Given the description of an element on the screen output the (x, y) to click on. 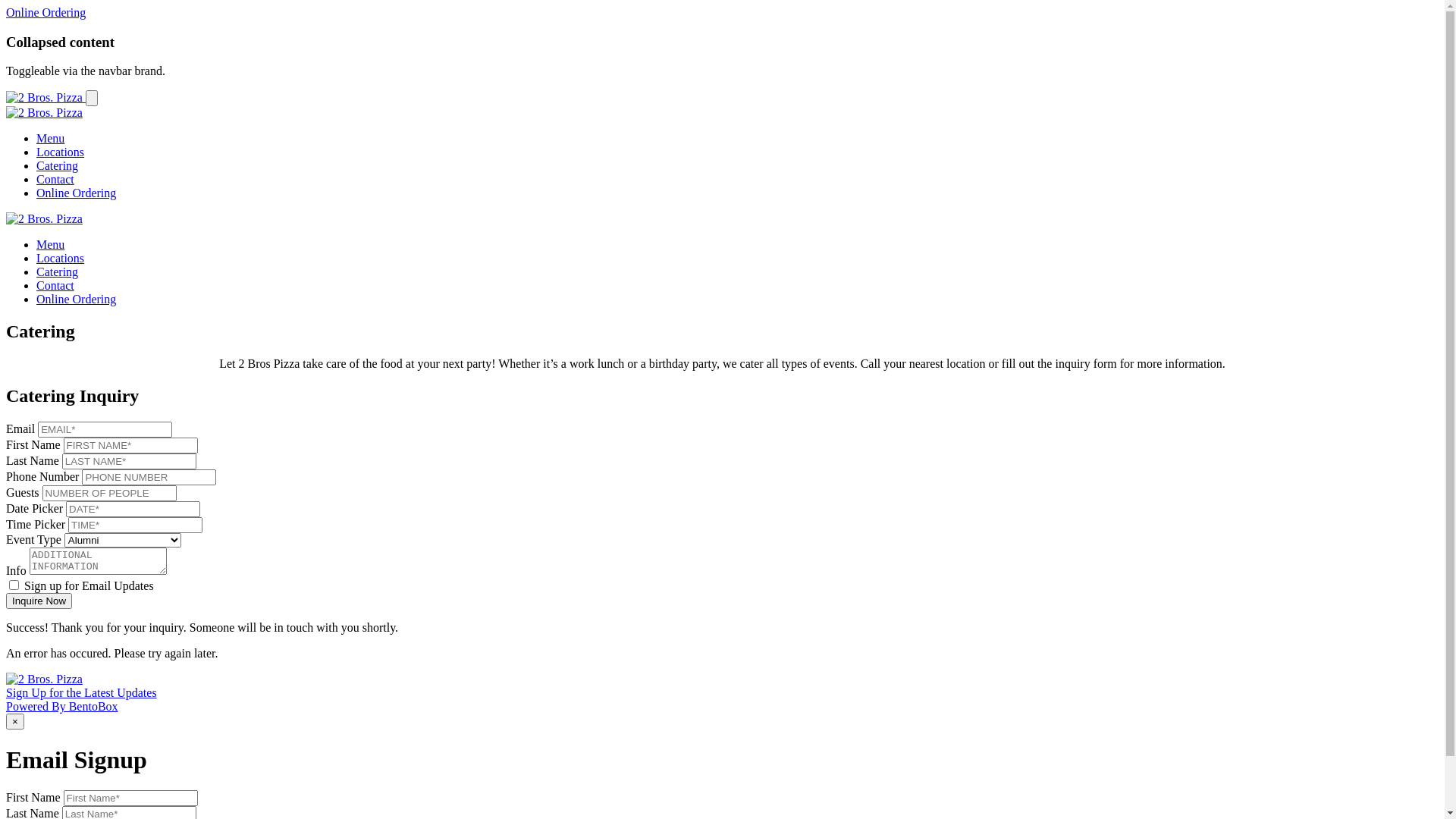
Contact Element type: text (55, 178)
Online Ordering Element type: text (76, 192)
Locations Element type: text (60, 151)
Catering Element type: text (57, 165)
Inquire Now Element type: text (39, 600)
Sign Up for the Latest Updates Element type: text (81, 692)
Contact Element type: text (55, 285)
Menu Element type: text (50, 137)
Menu Element type: text (50, 244)
Navbar Toggle Element type: text (91, 98)
Locations Element type: text (60, 257)
Catering Element type: text (57, 271)
Online Ordering Element type: text (45, 12)
Powered By BentoBox Element type: text (62, 705)
Online Ordering Element type: text (76, 298)
